Given the description of an element on the screen output the (x, y) to click on. 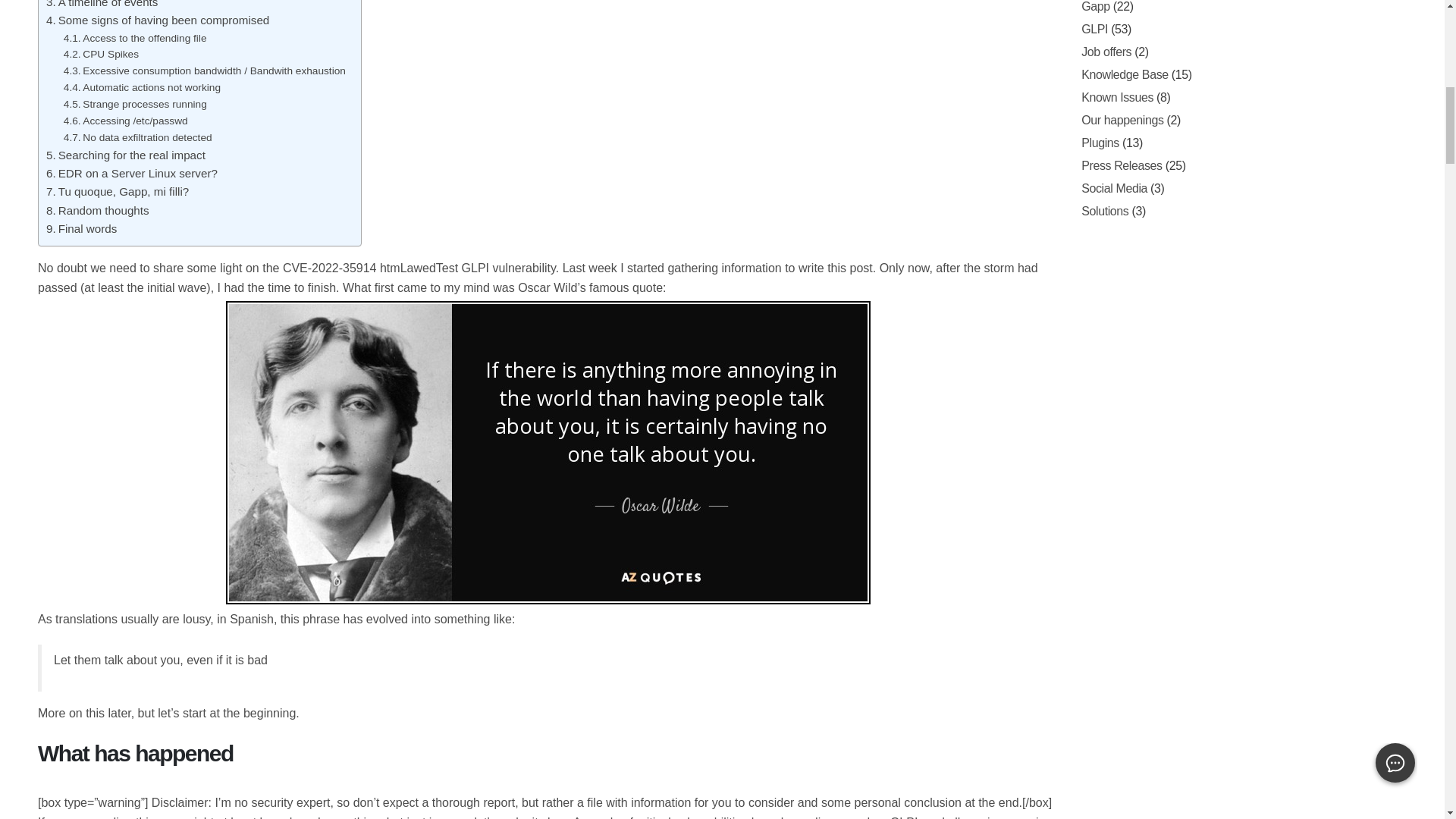
A timeline of events (101, 5)
Access to the offending file (135, 38)
CPU Spikes (101, 54)
Automatic actions not working (142, 87)
Strange processes running (135, 104)
Some signs of having been compromised (157, 20)
